Given the description of an element on the screen output the (x, y) to click on. 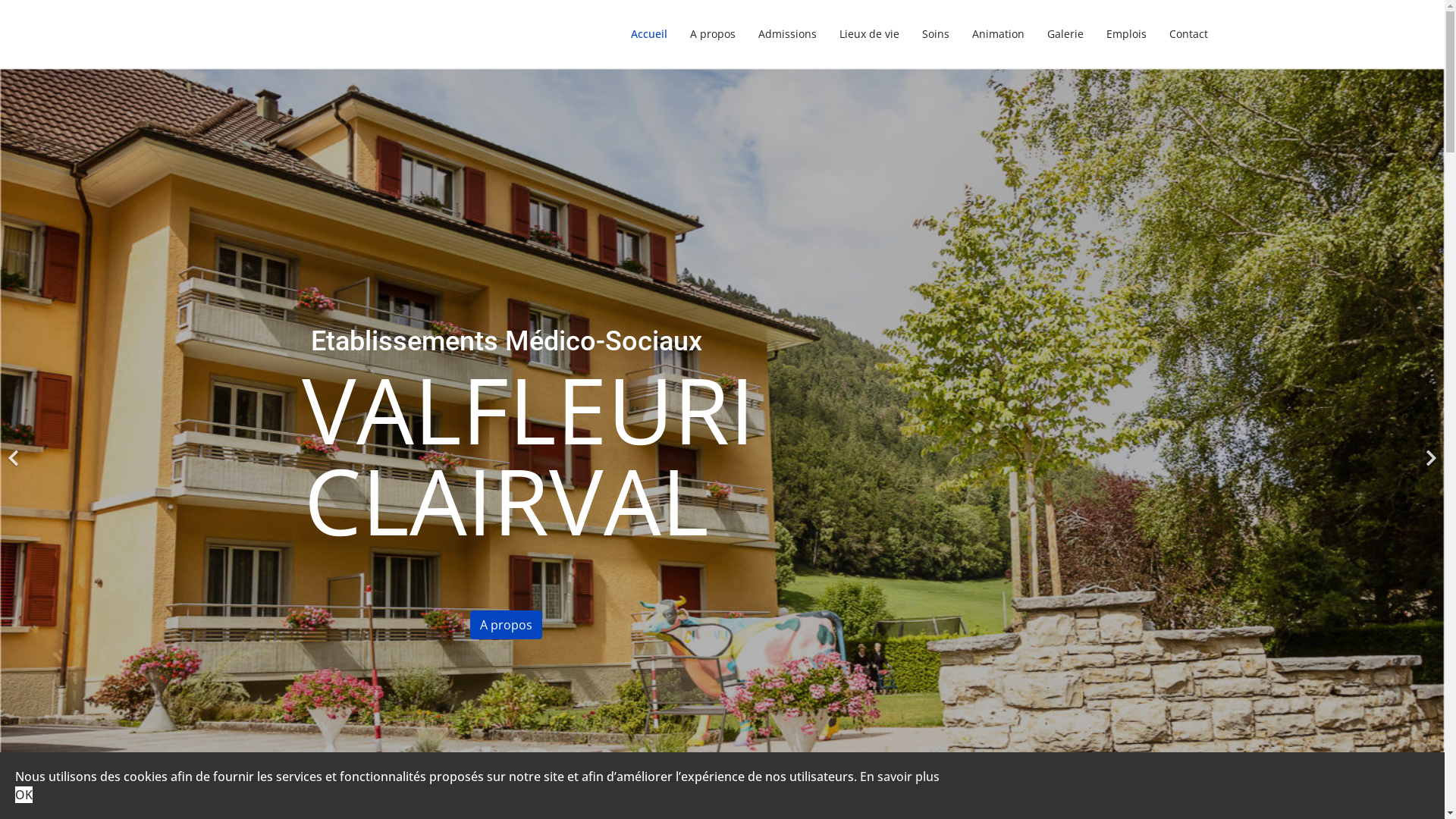
Emplois Element type: text (1126, 34)
En savoir plus Element type: text (899, 776)
Lieux de vie Element type: text (869, 34)
Animation Element type: text (997, 34)
Contact Element type: text (1182, 34)
A propos Element type: text (506, 624)
OK Element type: text (23, 794)
Soins Element type: text (935, 34)
Admissions Element type: text (786, 34)
Galerie Element type: text (1065, 34)
Accueil Element type: text (647, 34)
A propos Element type: text (711, 34)
